Given the description of an element on the screen output the (x, y) to click on. 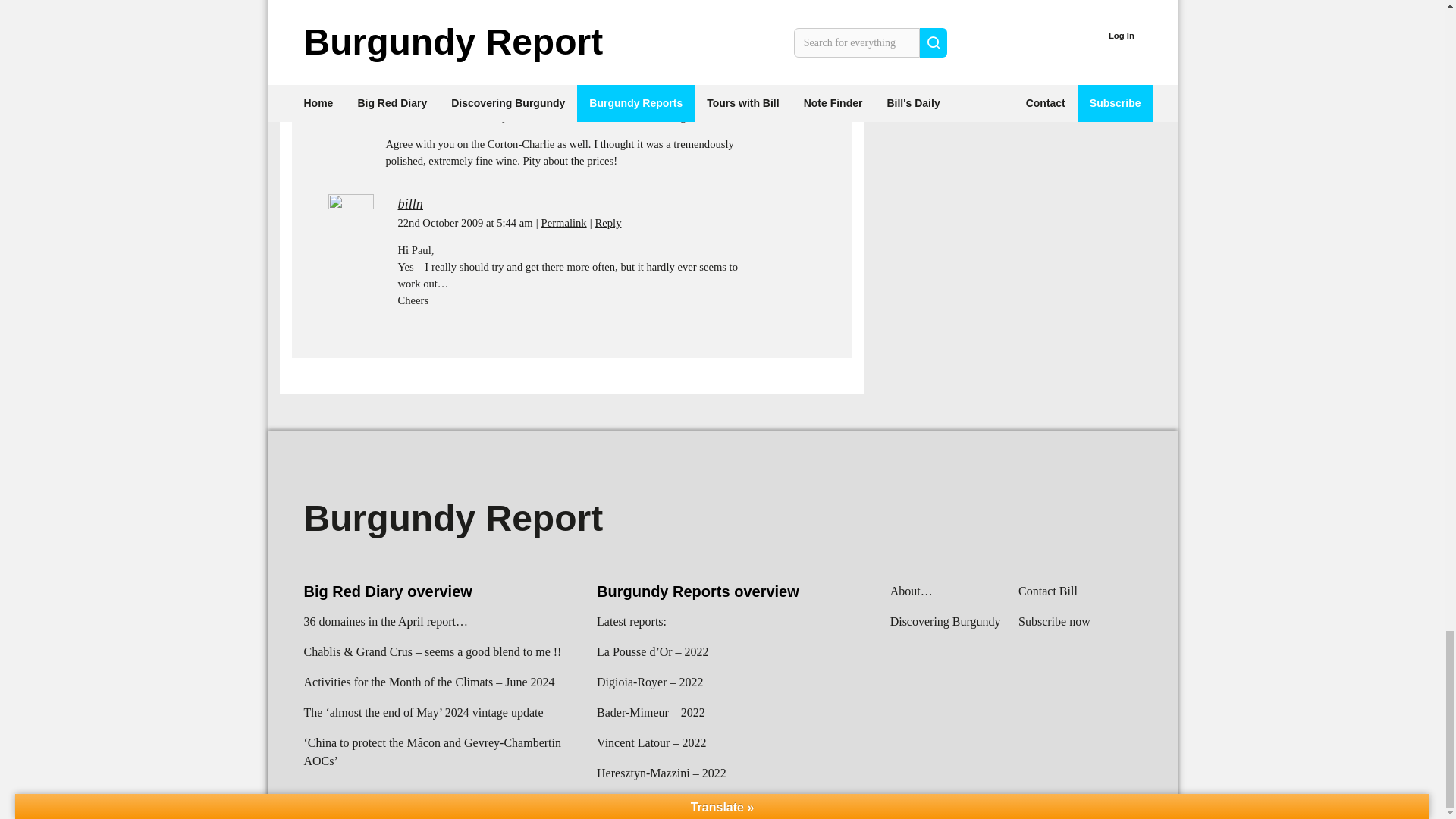
Reply (608, 223)
Permalink (552, 38)
billn (410, 203)
Burgundy Report (452, 517)
Reply (596, 38)
Permalink (563, 223)
